Given the description of an element on the screen output the (x, y) to click on. 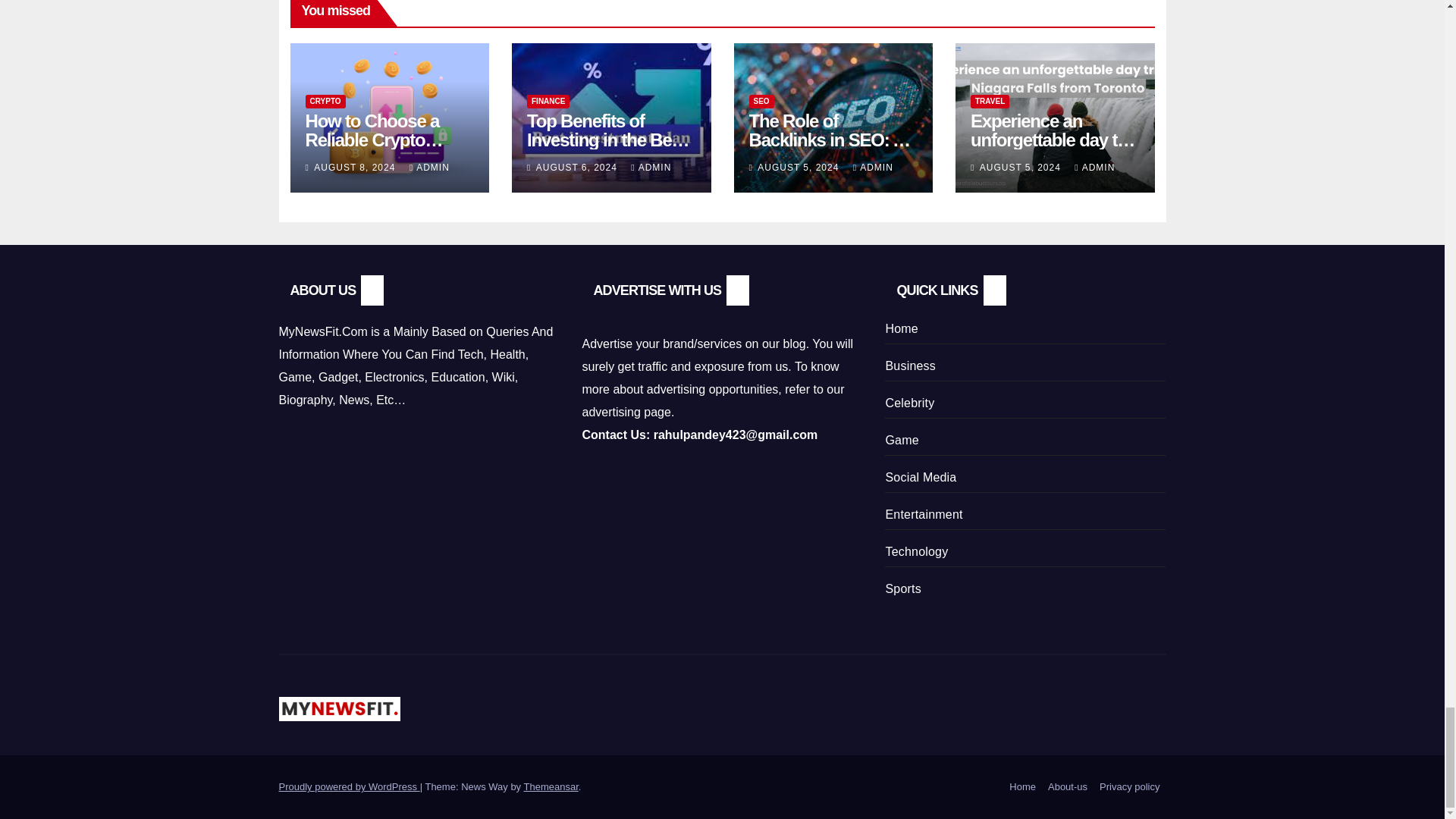
Permalink to: How to Choose a Reliable Crypto Exchange (373, 139)
